Given the description of an element on the screen output the (x, y) to click on. 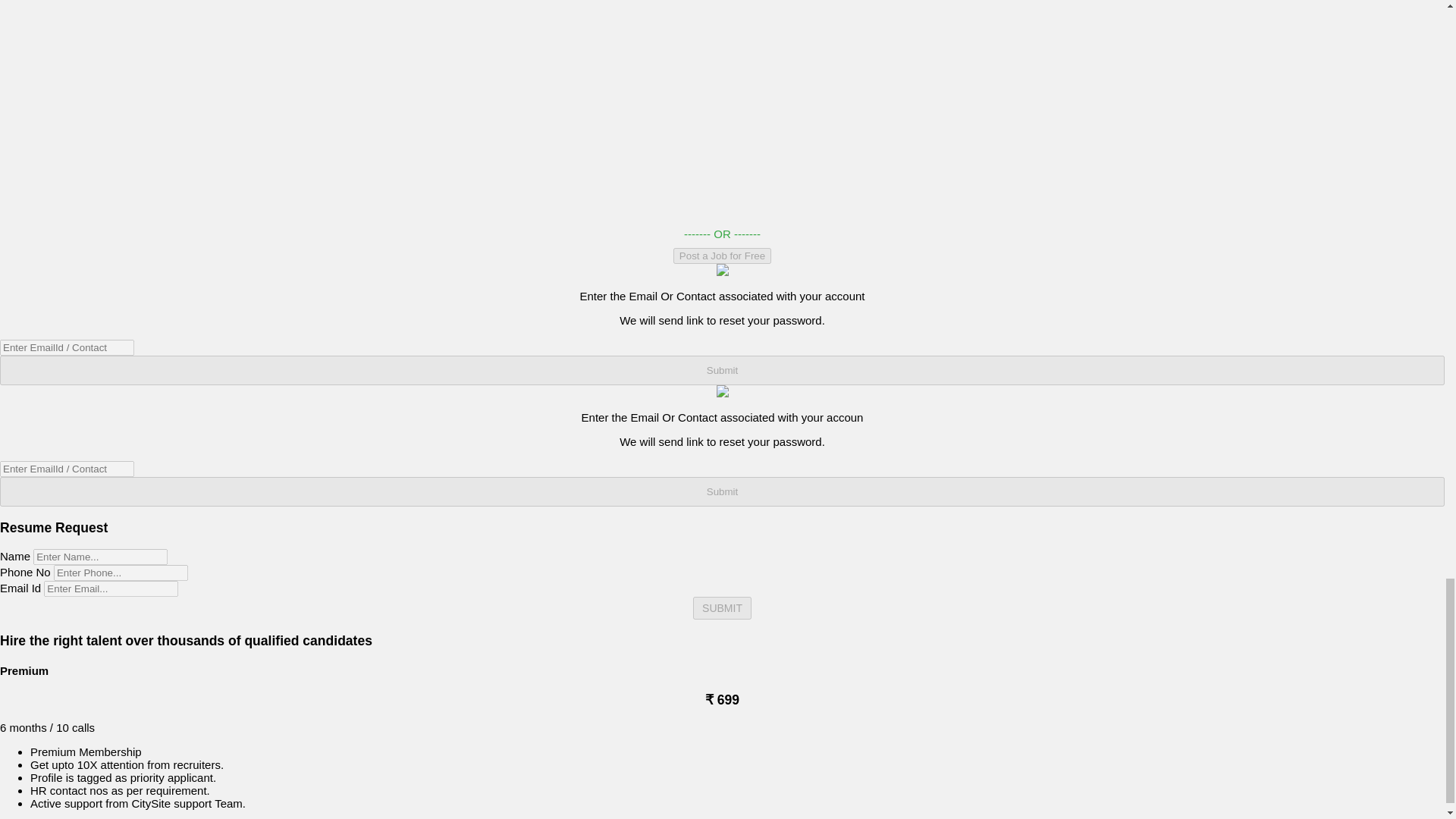
Post a Job for Free (721, 255)
SUBMIT (722, 608)
